Given the description of an element on the screen output the (x, y) to click on. 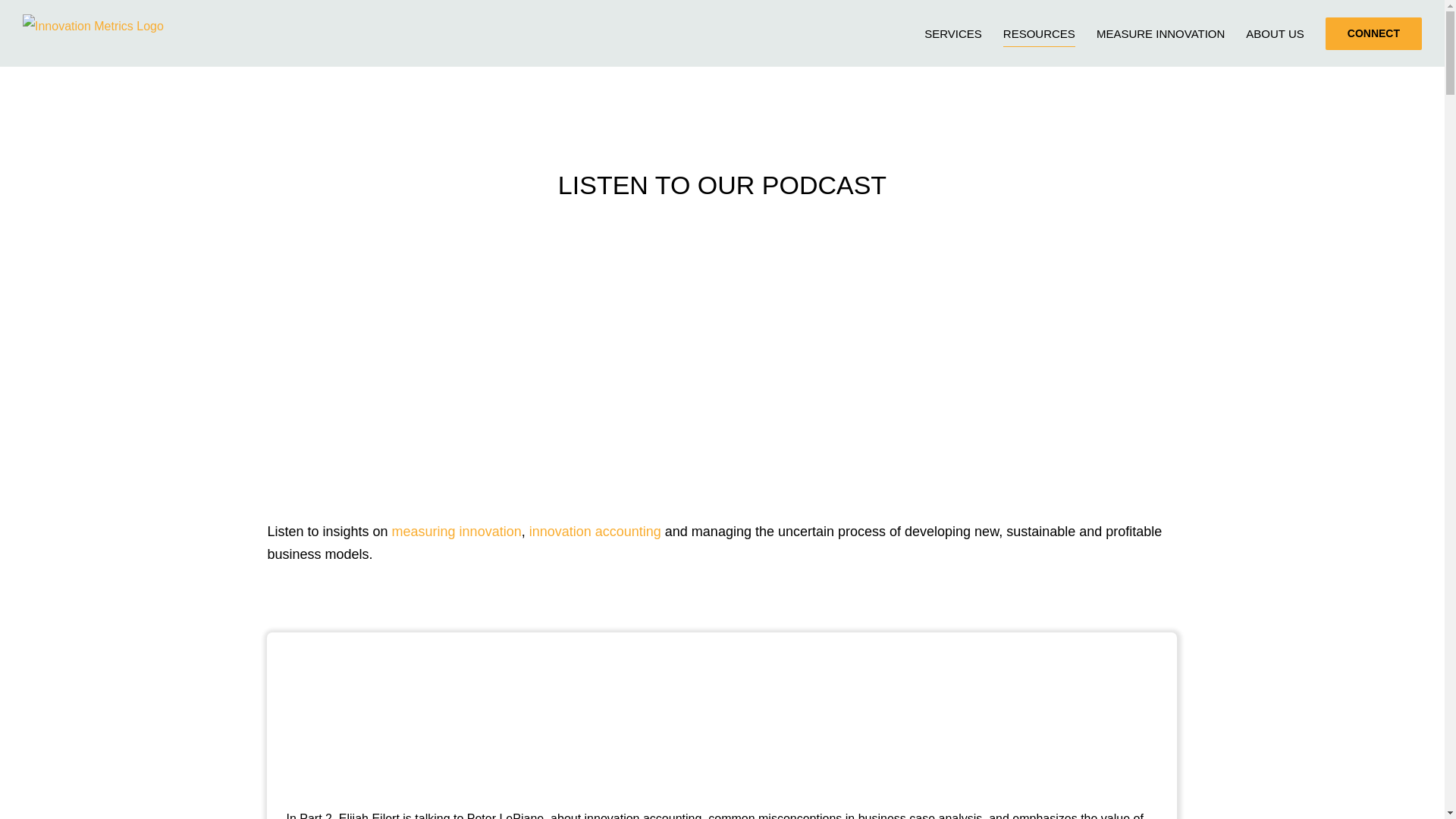
ABOUT US (1274, 32)
measuring innovation (456, 531)
MEASURE INNOVATION (1160, 32)
innovation accounting (595, 531)
RESOURCES (1039, 32)
SERVICES (952, 32)
CONNECT (1373, 32)
